Given the description of an element on the screen output the (x, y) to click on. 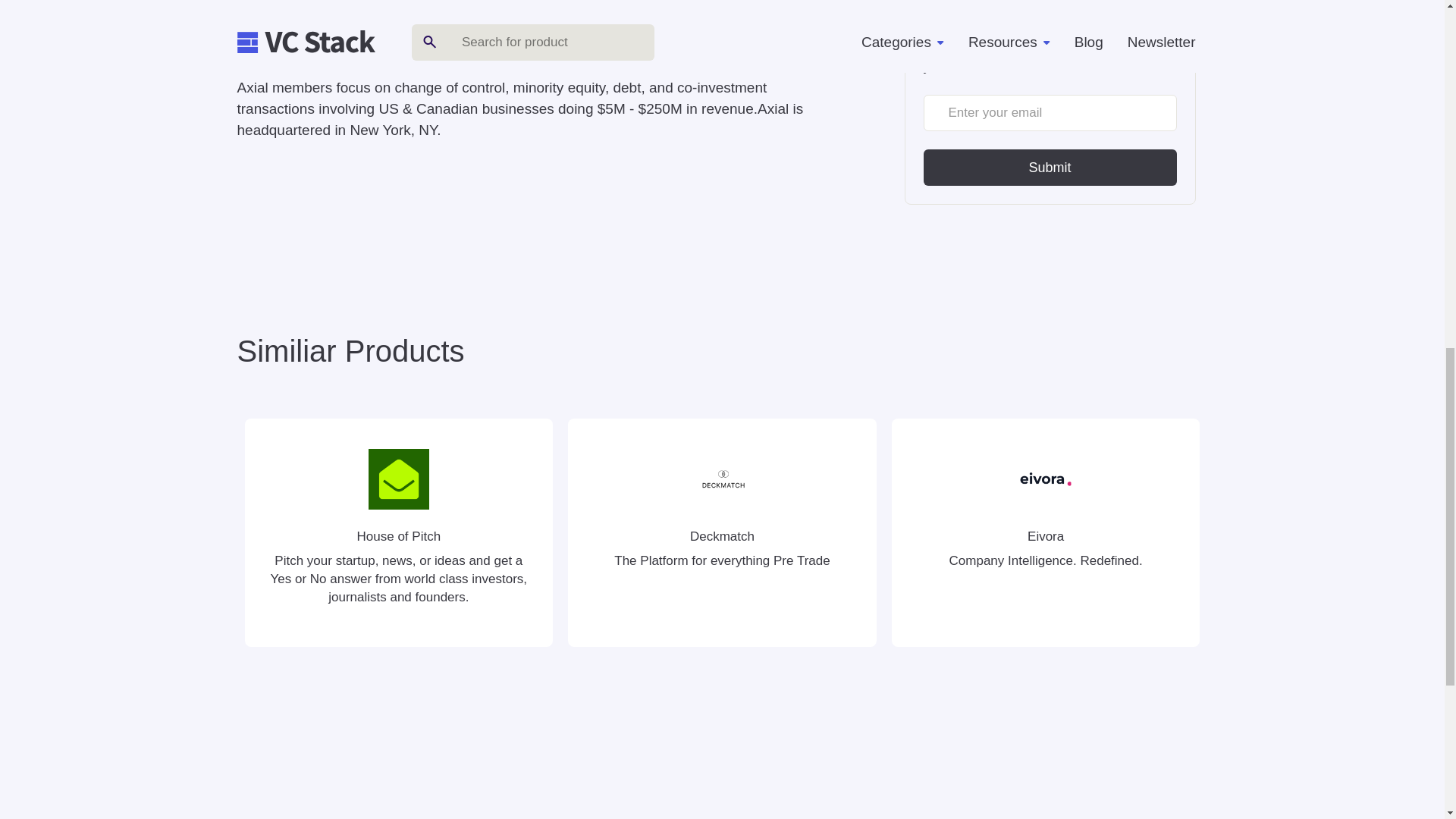
Submit (1049, 166)
